Given the description of an element on the screen output the (x, y) to click on. 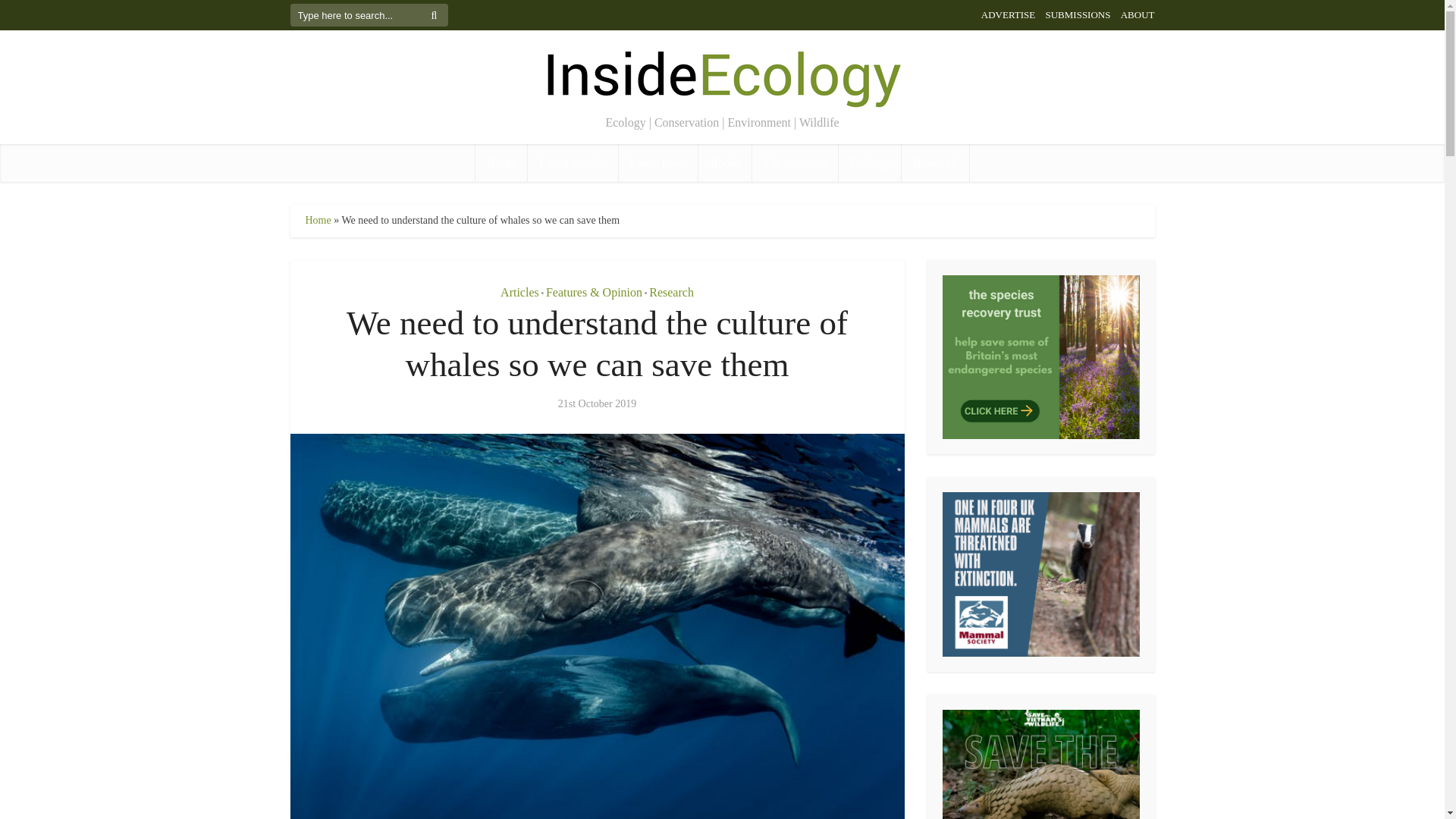
Research (935, 162)
Type here to search... (367, 15)
Type here to search... (367, 15)
SUBMISSIONS (1077, 14)
Home (317, 220)
Books (725, 162)
Latest articles (572, 162)
Articles (519, 291)
Environment (795, 162)
Ecology (869, 162)
ADVERTISE (1008, 14)
Latest news (658, 162)
Home (501, 162)
Research (671, 291)
ABOUT (1137, 14)
